Given the description of an element on the screen output the (x, y) to click on. 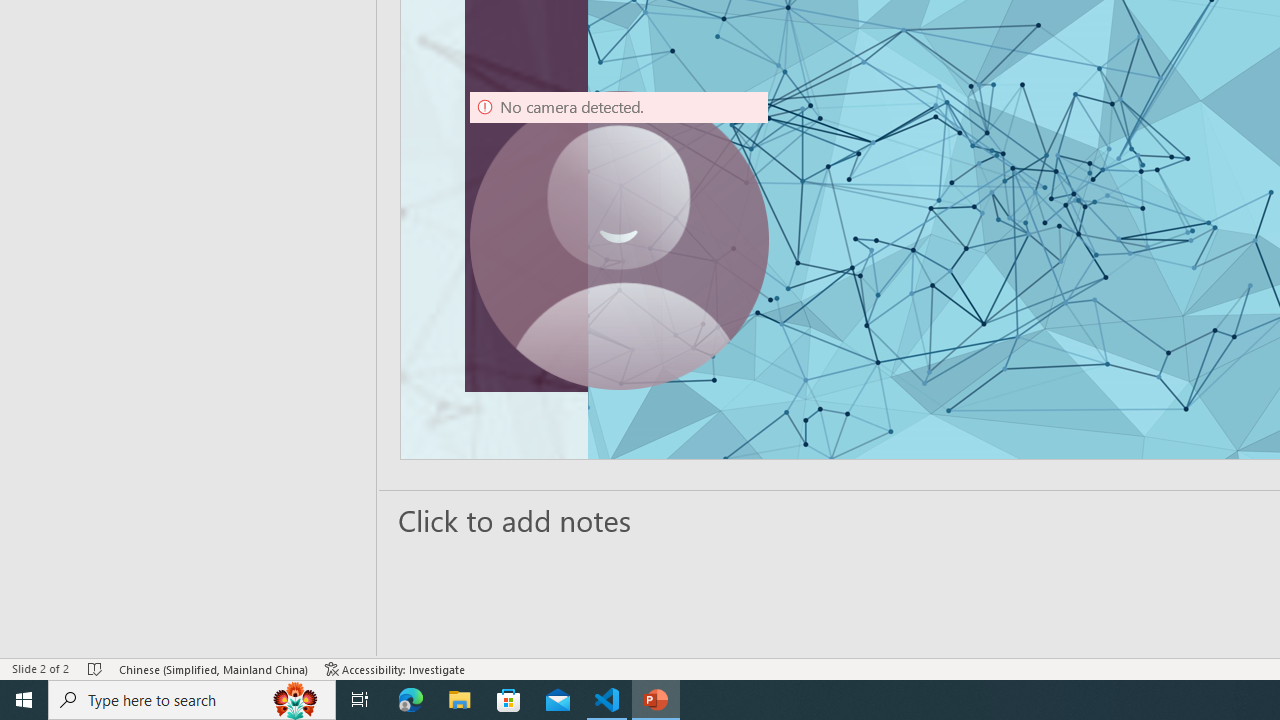
Spell Check No Errors (95, 668)
Accessibility Checker Accessibility: Investigate (395, 668)
Camera 9, No camera detected. (619, 240)
